Given the description of an element on the screen output the (x, y) to click on. 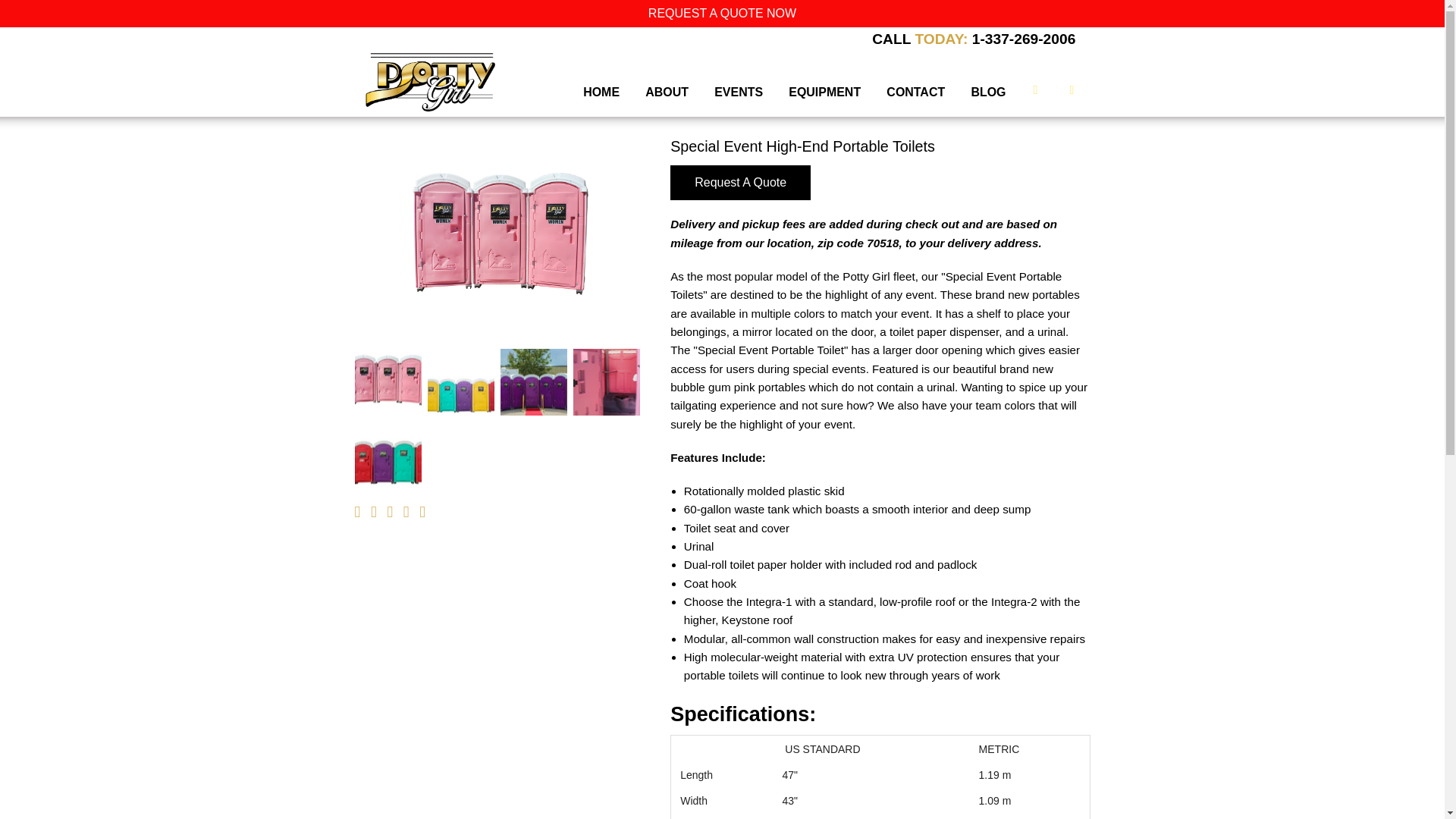
ABOUT (666, 91)
HOME (601, 91)
CONTACT (915, 91)
EQUIPMENT (824, 91)
EVENTS (738, 91)
CALL TODAY: 1-337-269-2006 (973, 36)
BLOG (987, 91)
